Given the description of an element on the screen output the (x, y) to click on. 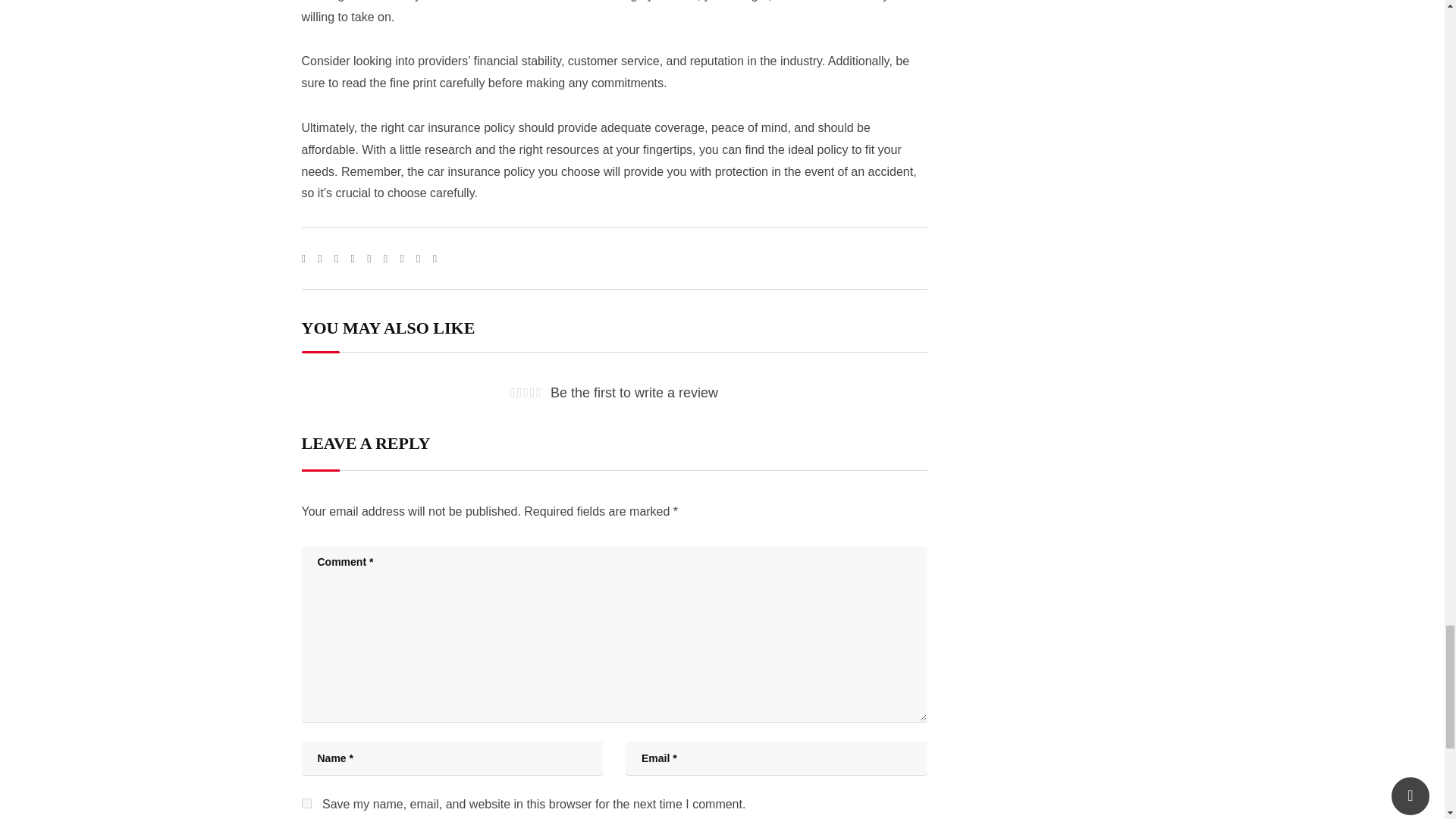
yes (306, 803)
